Given the description of an element on the screen output the (x, y) to click on. 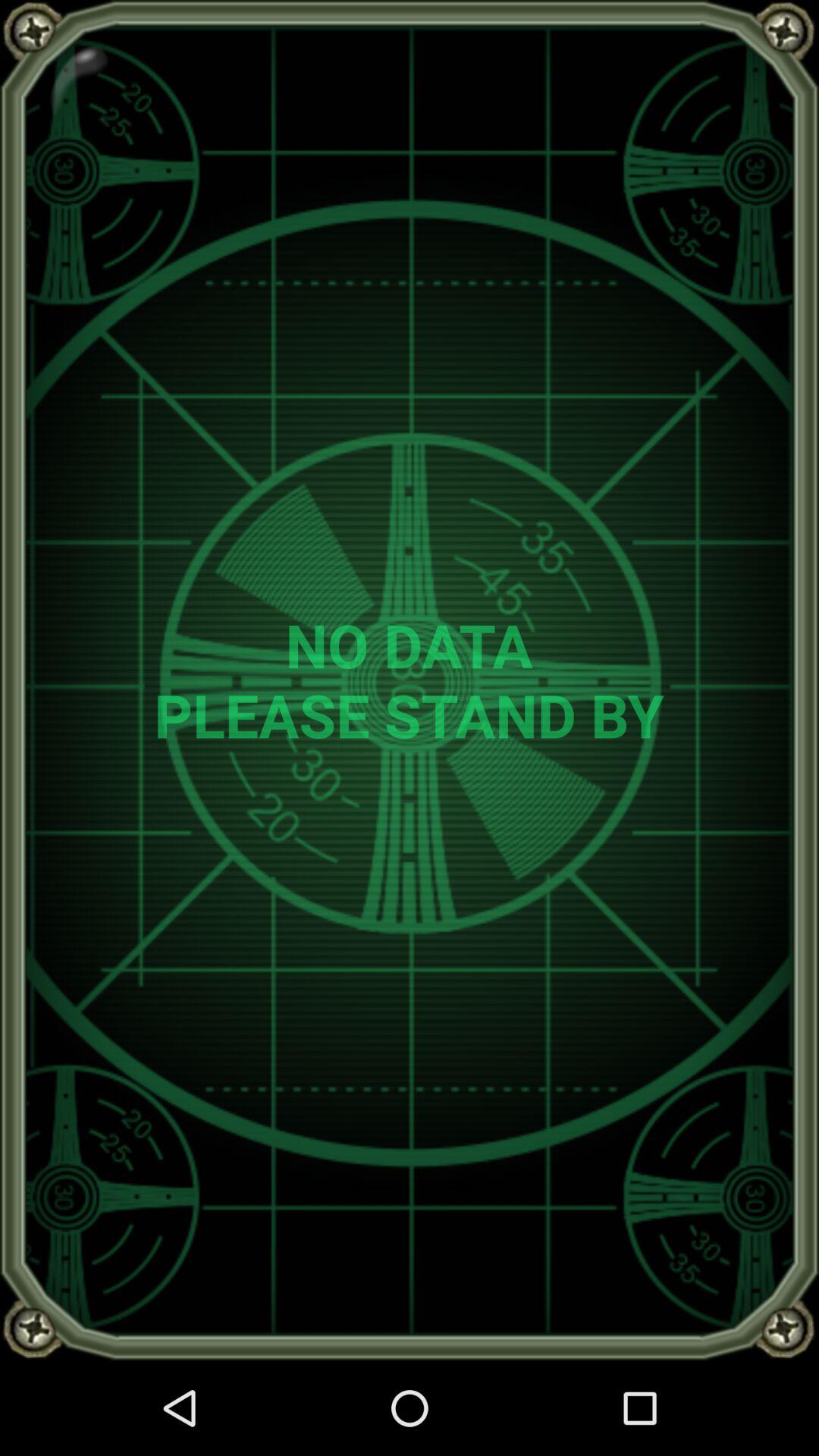
turn off no data please app (409, 679)
